Given the description of an element on the screen output the (x, y) to click on. 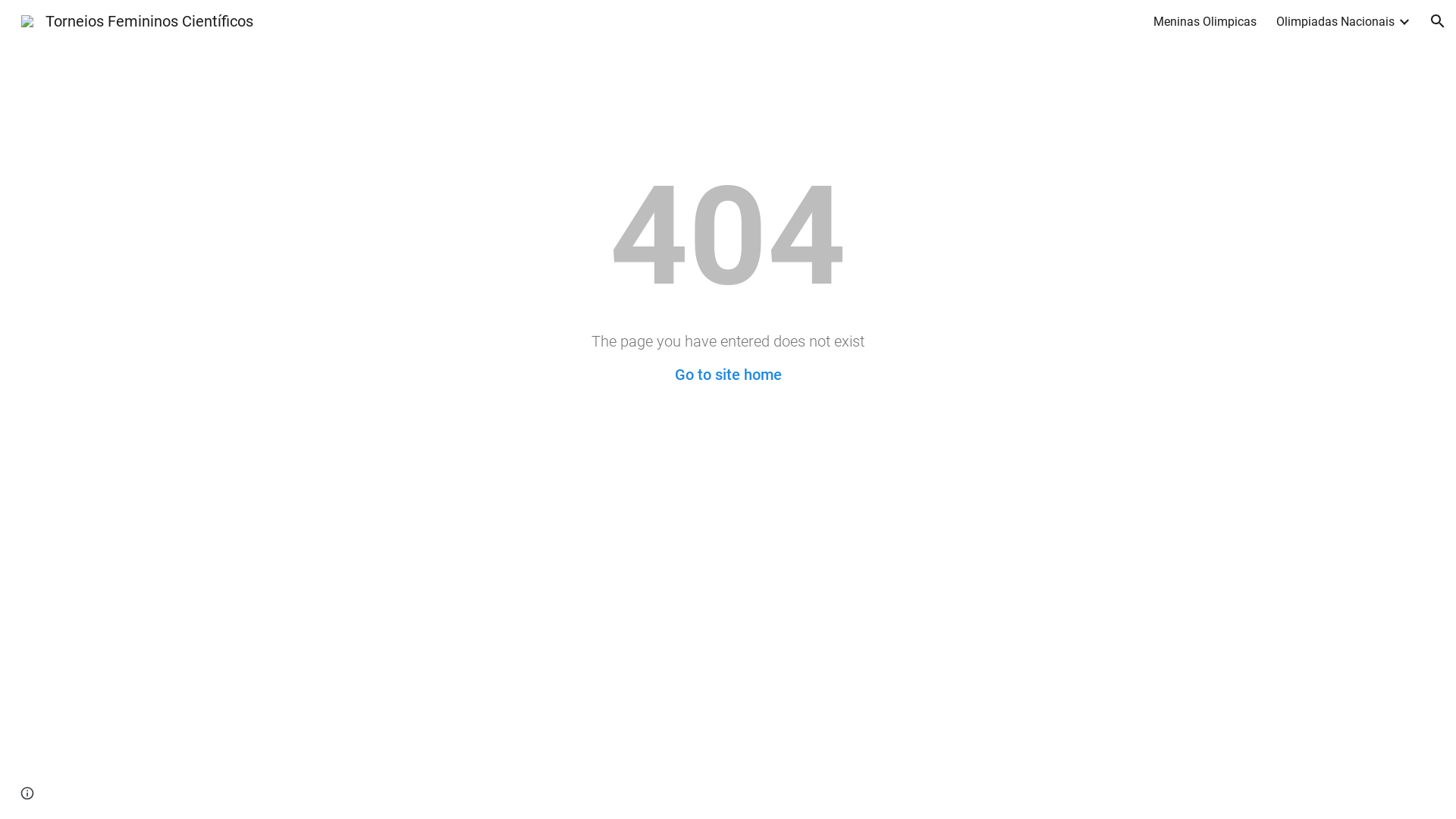
Olimpiadas Nacionais Element type: text (1335, 20)
Expand/Collapse Element type: hover (1403, 20)
Go to site home Element type: text (727, 374)
Meninas Olimpicas Element type: text (1204, 20)
